Given the description of an element on the screen output the (x, y) to click on. 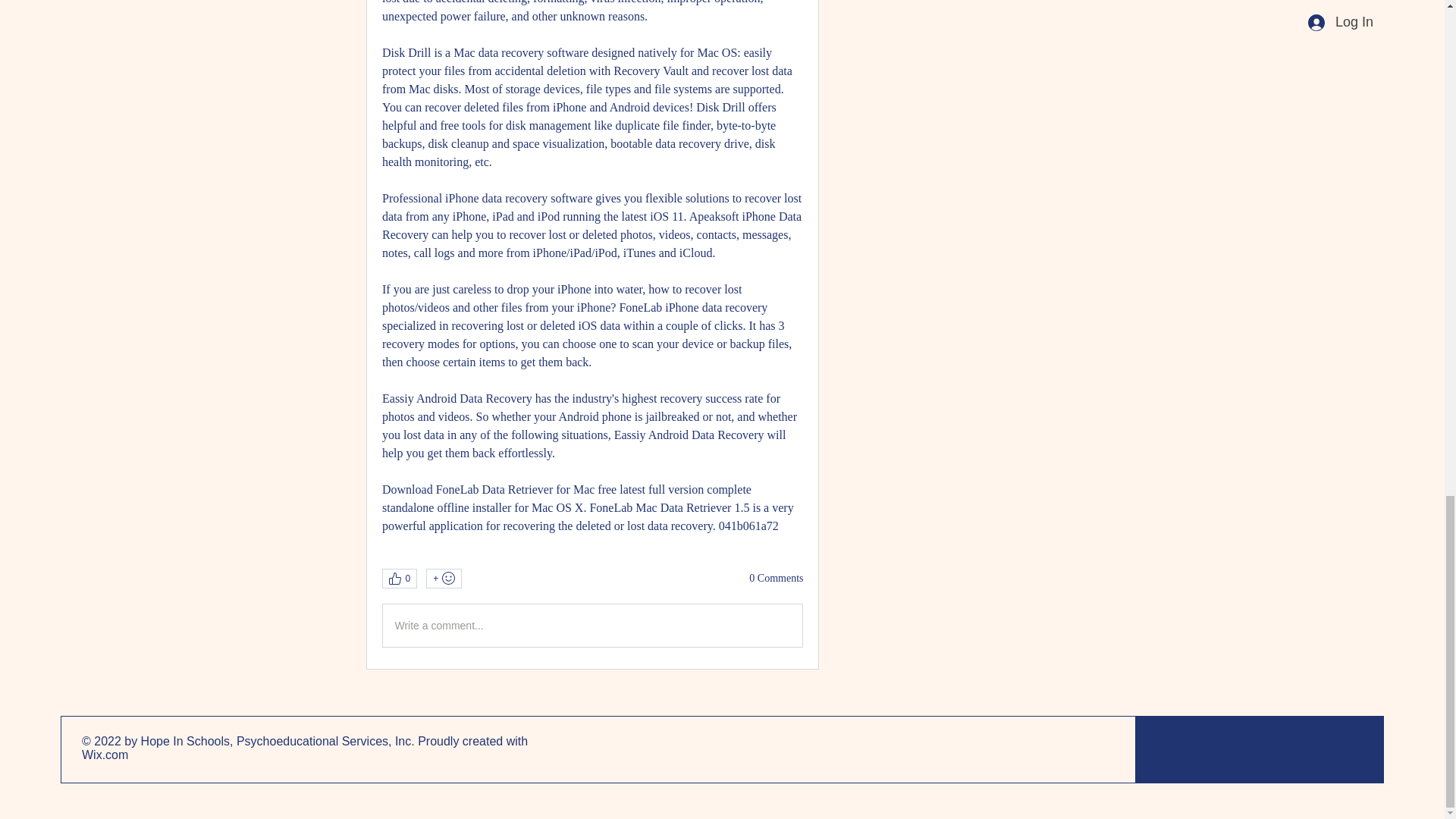
Write a comment... (591, 625)
0 Comments (776, 578)
